Given the description of an element on the screen output the (x, y) to click on. 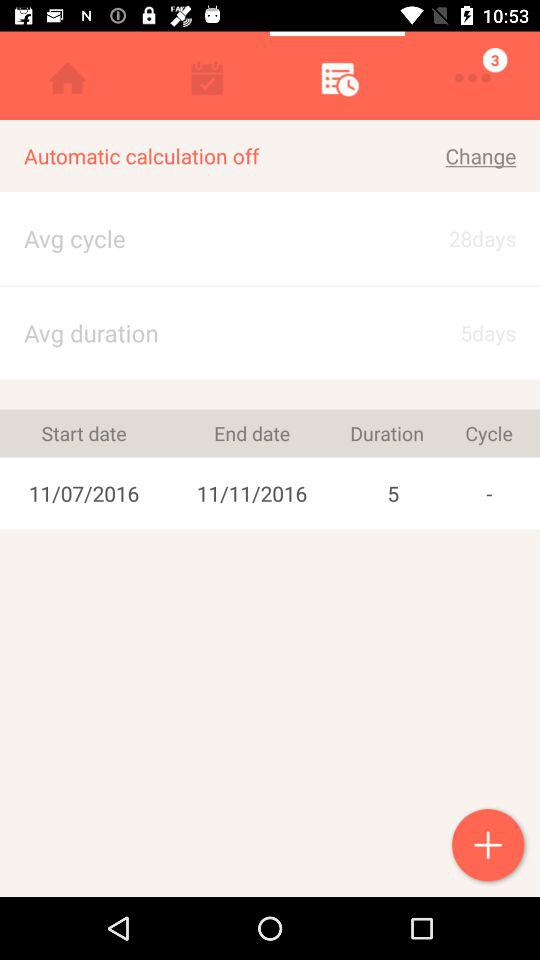
tap 28days item (463, 238)
